Given the description of an element on the screen output the (x, y) to click on. 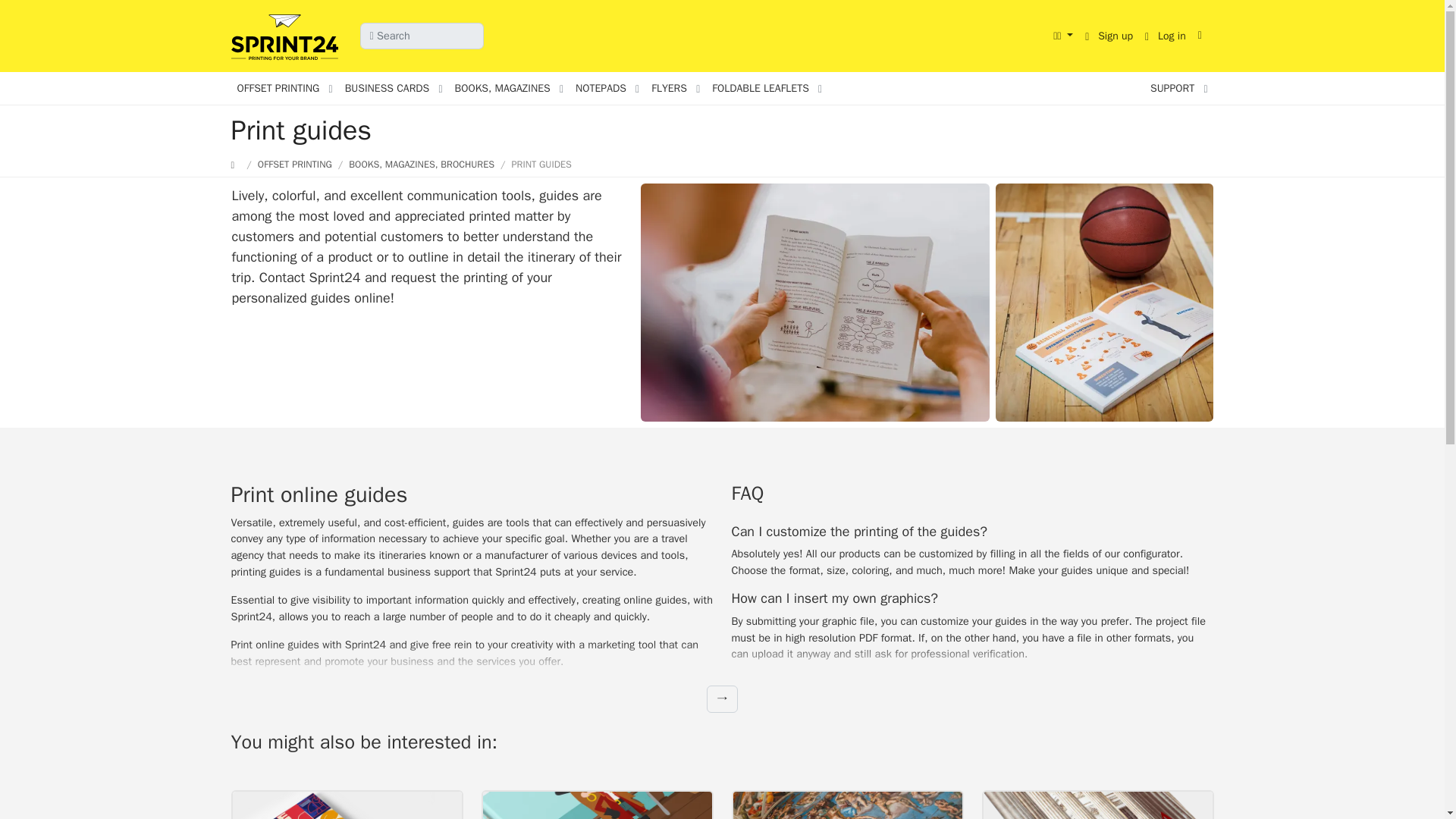
Shopping cart (1203, 34)
Print guides: Printing Online Custom UK (1103, 302)
Log in (1165, 35)
Threaded Paperbacks Printing Online Custom UK (846, 805)
Sign up (1108, 35)
Print hardcover books with flexible cover (1096, 805)
Paperback Binding Online Custom UK (346, 805)
Hardcover Books Printing Online Custom UK (596, 805)
Sprint24 (286, 37)
Print guides: Printing Online Custom UK (815, 302)
